Given the description of an element on the screen output the (x, y) to click on. 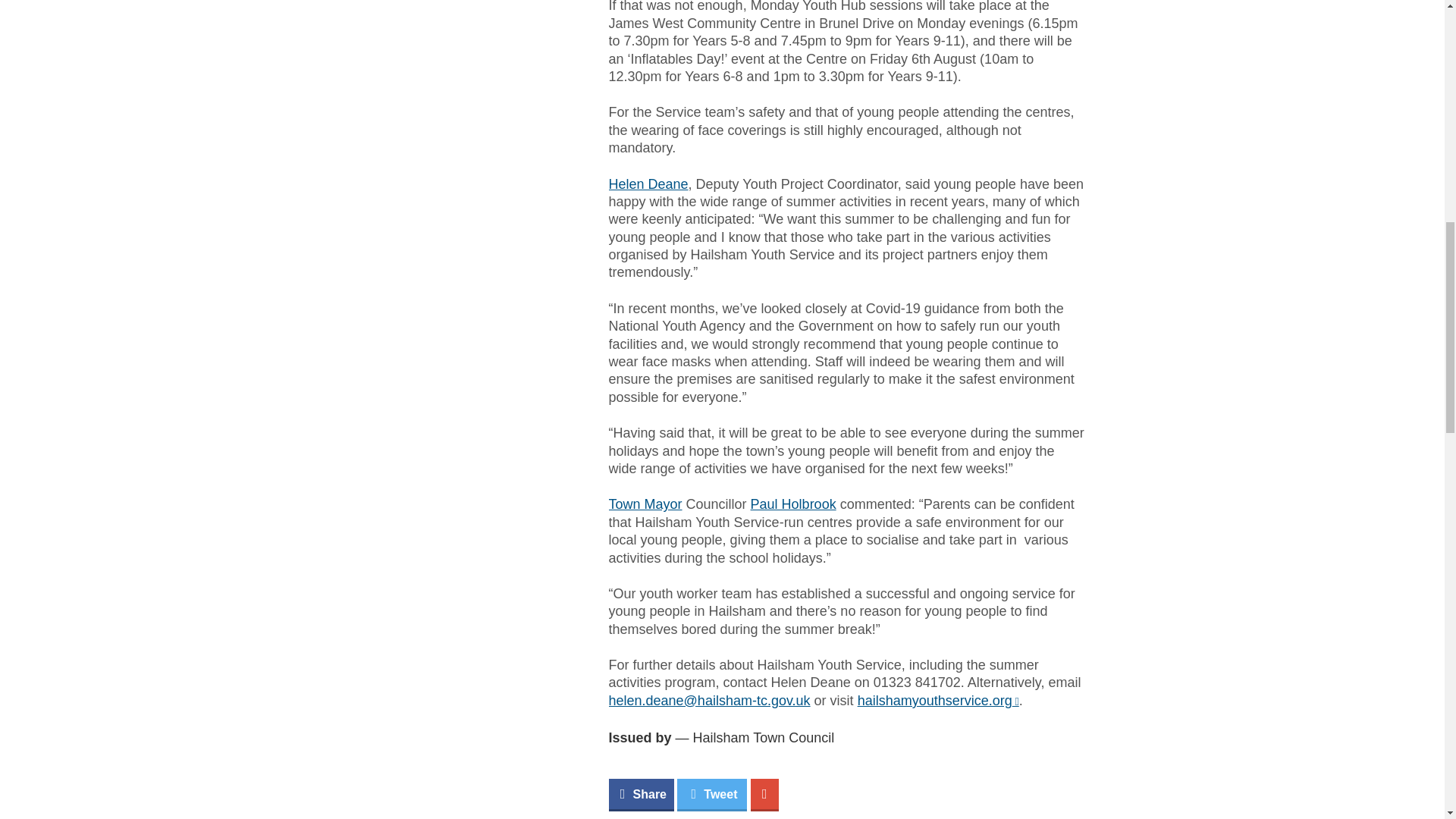
Town Mayor (644, 503)
Share (640, 794)
Helen Deane (647, 183)
Paul Holbrook (793, 503)
Tweet (711, 794)
hailshamyouthservice.org (938, 700)
